Given the description of an element on the screen output the (x, y) to click on. 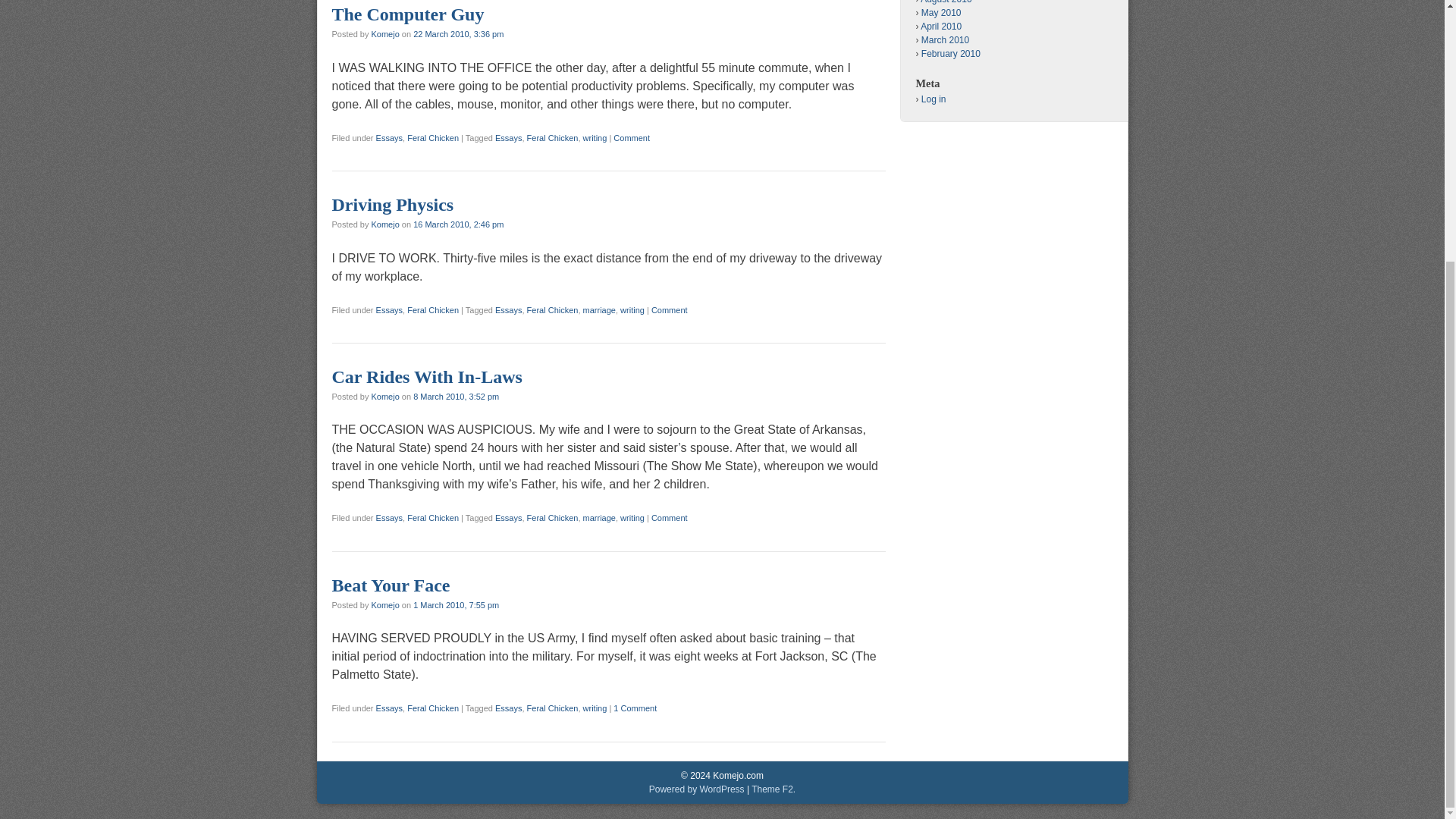
22 March 2010, 3:36 pm (458, 33)
Feral Chicken (552, 309)
Essays (389, 309)
View all posts by Komejo (384, 224)
writing (595, 137)
The Computer Guy (407, 14)
16 March 2010, 2:46 pm (458, 224)
Feral Chicken (432, 137)
Komejo (384, 33)
Permanent Link to The Computer Guy (407, 14)
